Given the description of an element on the screen output the (x, y) to click on. 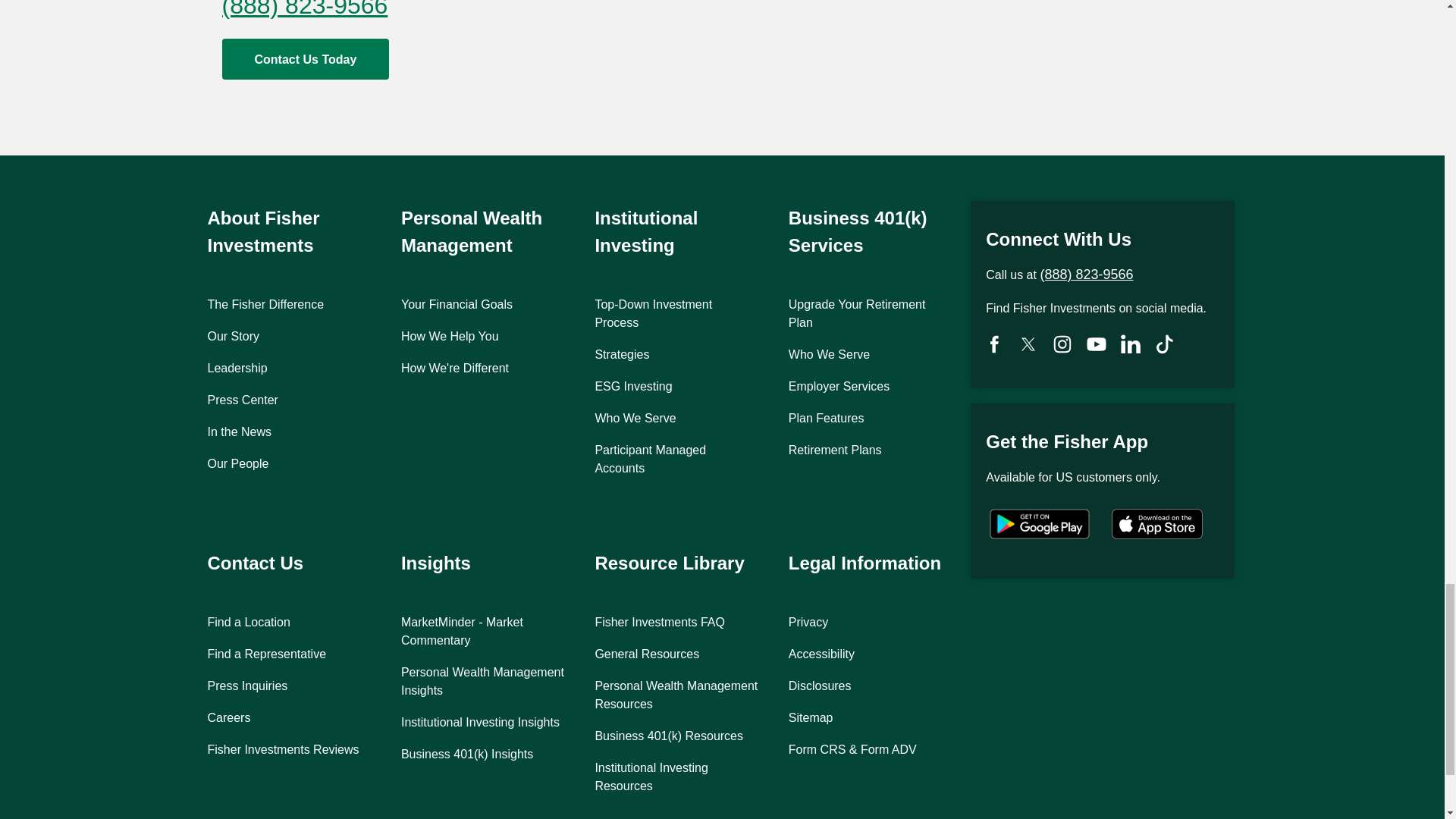
Follow us on TikTok (1164, 344)
Download from Google Play (1039, 524)
Follow us on Facebook (994, 344)
Follow us on LinkedIn (1130, 344)
Download the app on Apple store (1157, 524)
Follow us on Twitter (1027, 344)
Follow us on Youtube (1096, 344)
Follow us on TikTok (1062, 344)
